Given the description of an element on the screen output the (x, y) to click on. 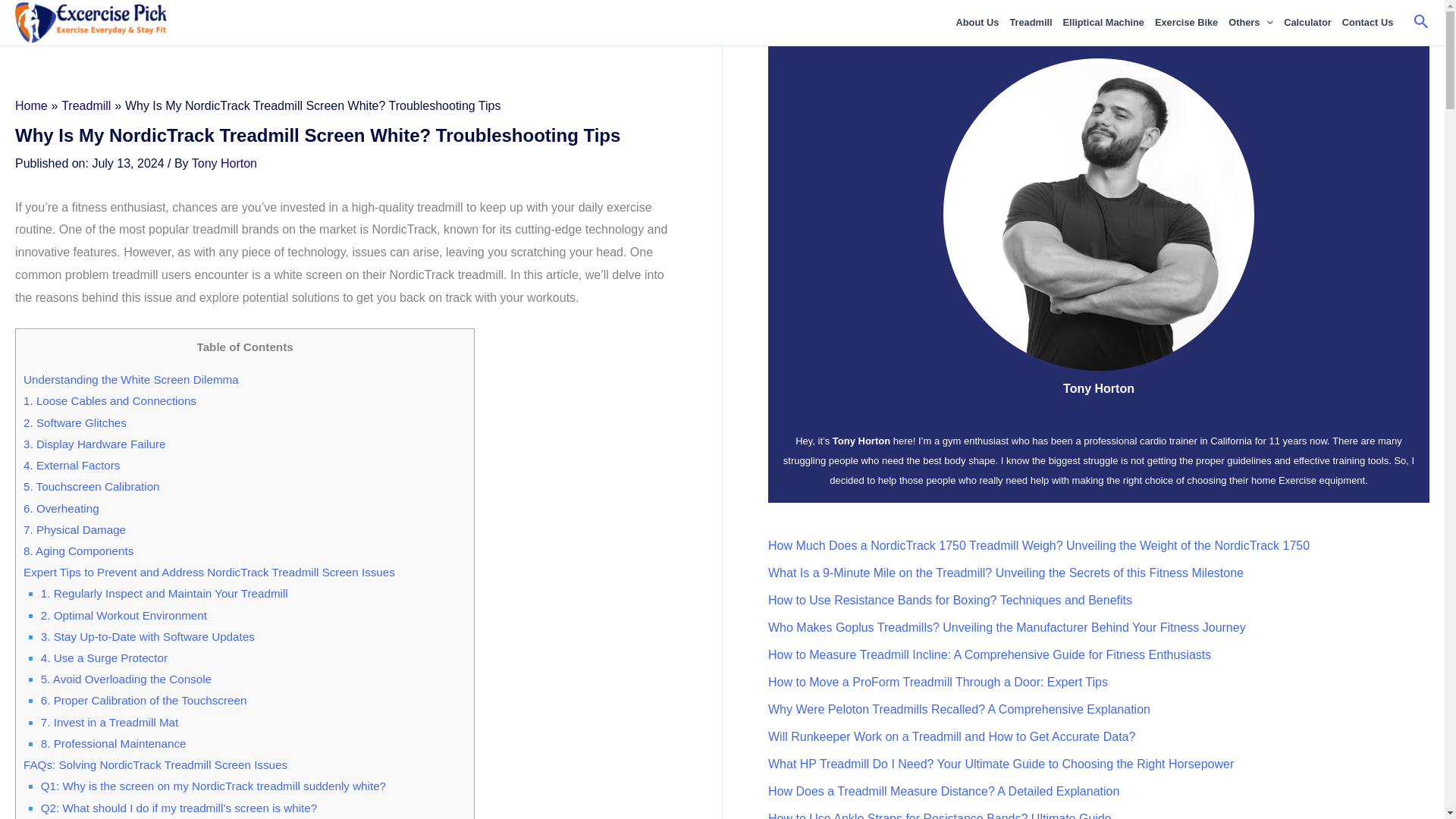
Treadmill (85, 105)
7. Physical Damage (74, 529)
4. External Factors (71, 464)
View all posts by Tony Horton (224, 162)
Calculator (1307, 22)
1. Loose Cables and Connections (109, 400)
3. Display Hardware Failure (94, 443)
Tony Horton (224, 162)
2. Software Glitches (74, 422)
Elliptical Machine (1104, 22)
6. Overheating (61, 508)
Understanding the White Screen Dilemma (130, 379)
Treadmill (1030, 22)
Home (31, 105)
8. Aging Components (78, 550)
